Given the description of an element on the screen output the (x, y) to click on. 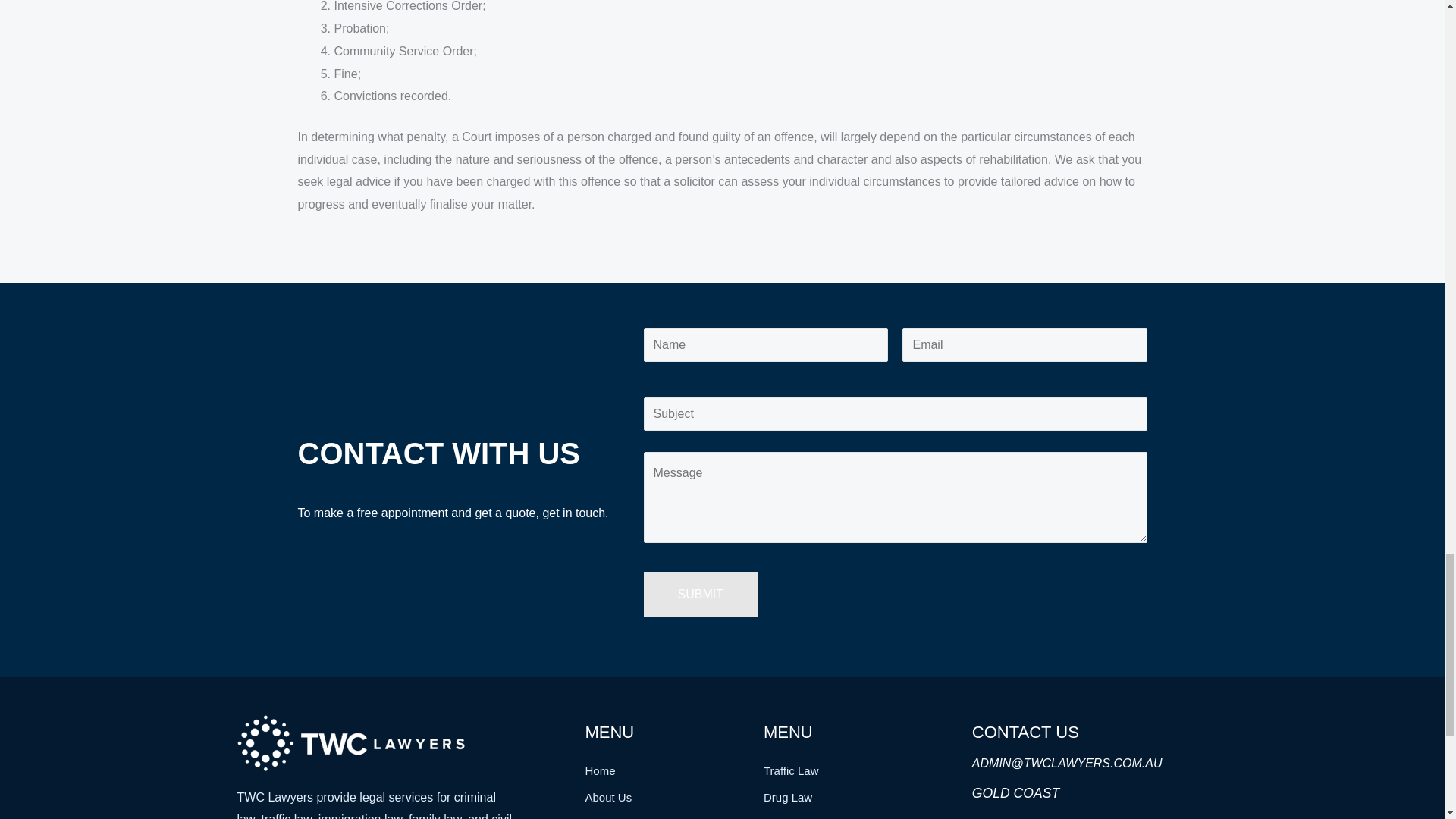
Submit (700, 594)
